Given the description of an element on the screen output the (x, y) to click on. 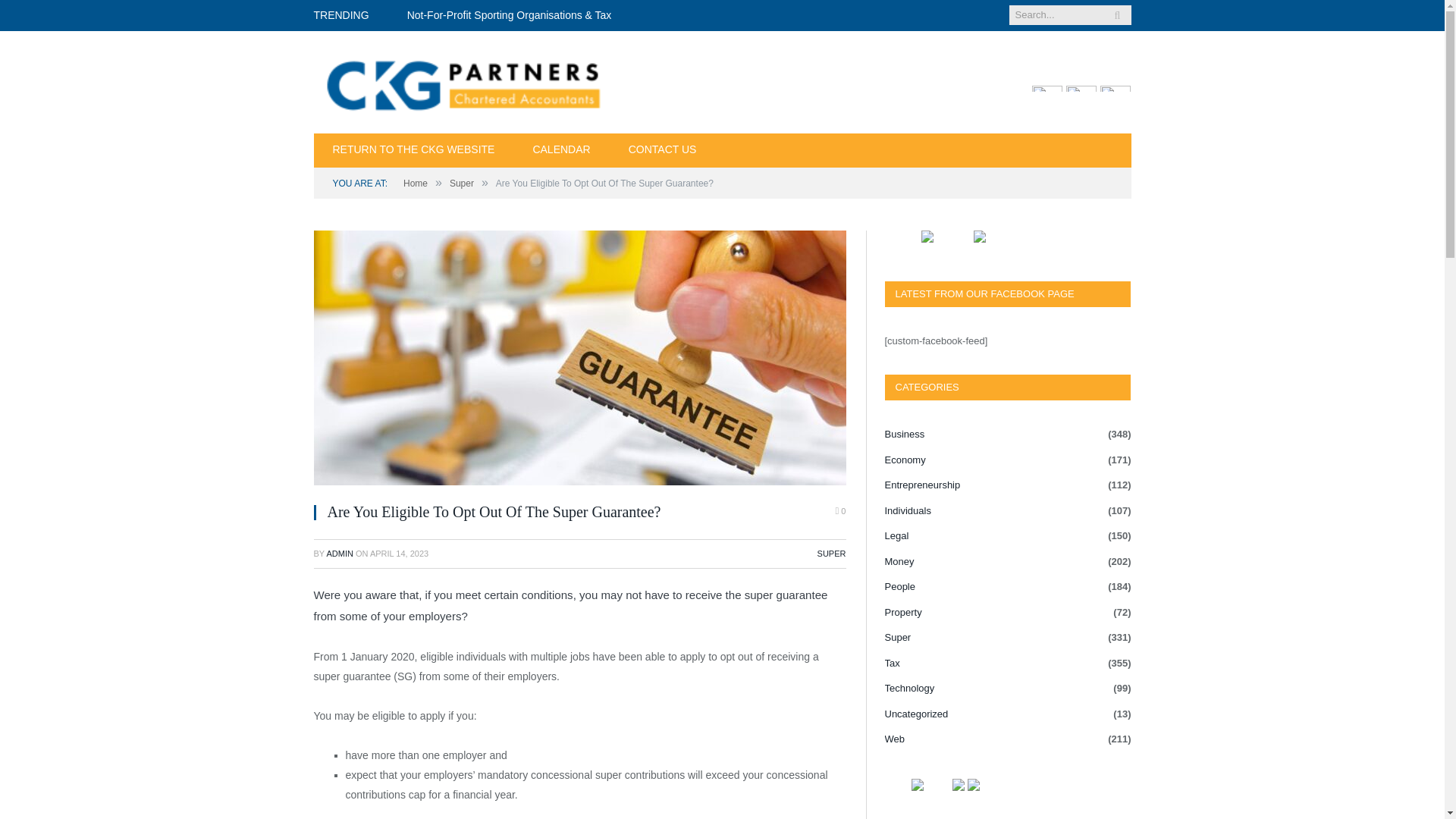
CALENDAR (560, 150)
ADMIN (339, 552)
Super (461, 183)
RETURN TO THE CKG WEBSITE (413, 150)
CONTACT US (663, 150)
Home (415, 183)
SUPER (830, 552)
Posts by admin (339, 552)
CKG Partners Media (465, 81)
